Given the description of an element on the screen output the (x, y) to click on. 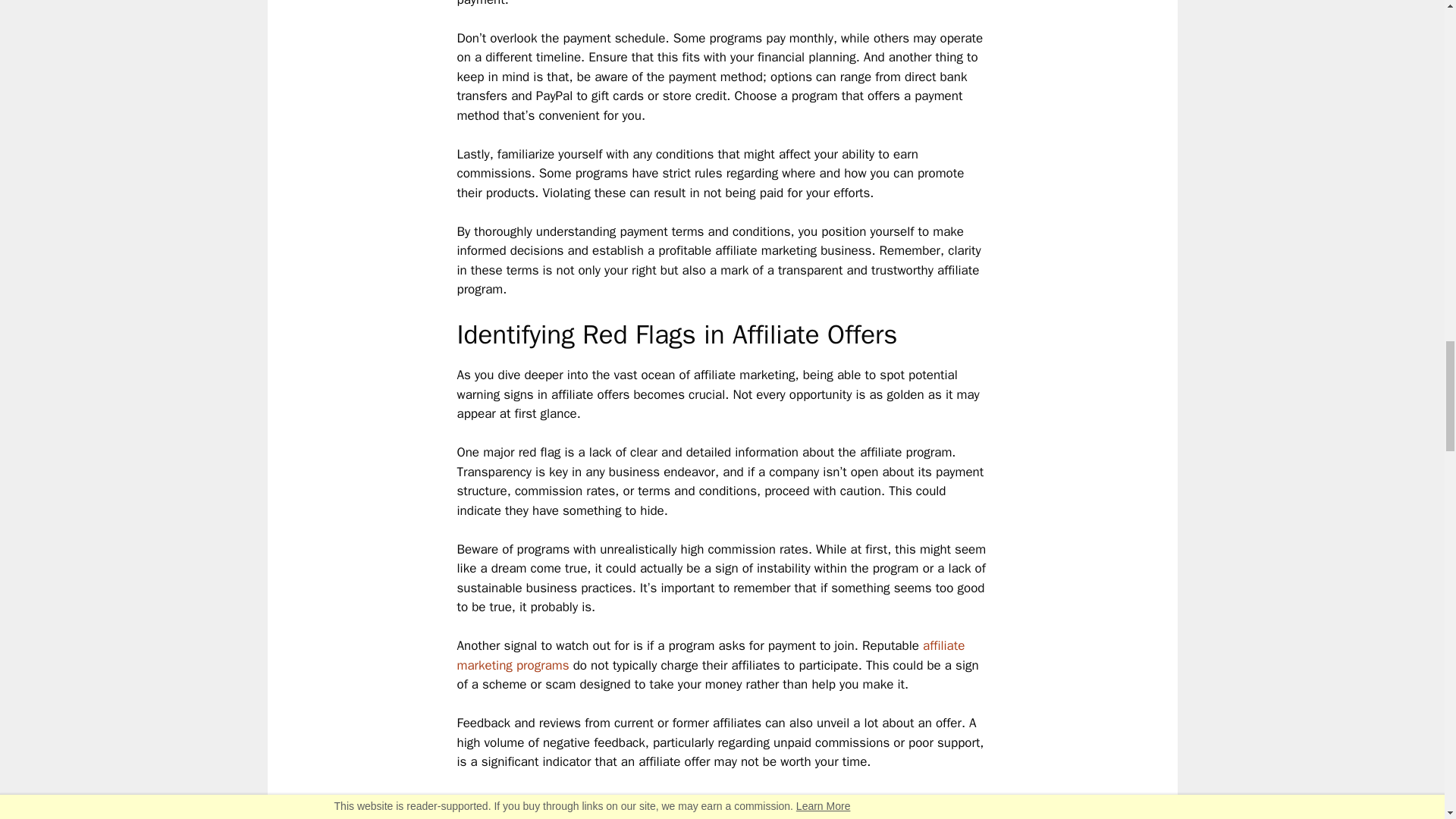
affiliate marketing programs (710, 655)
